Given the description of an element on the screen output the (x, y) to click on. 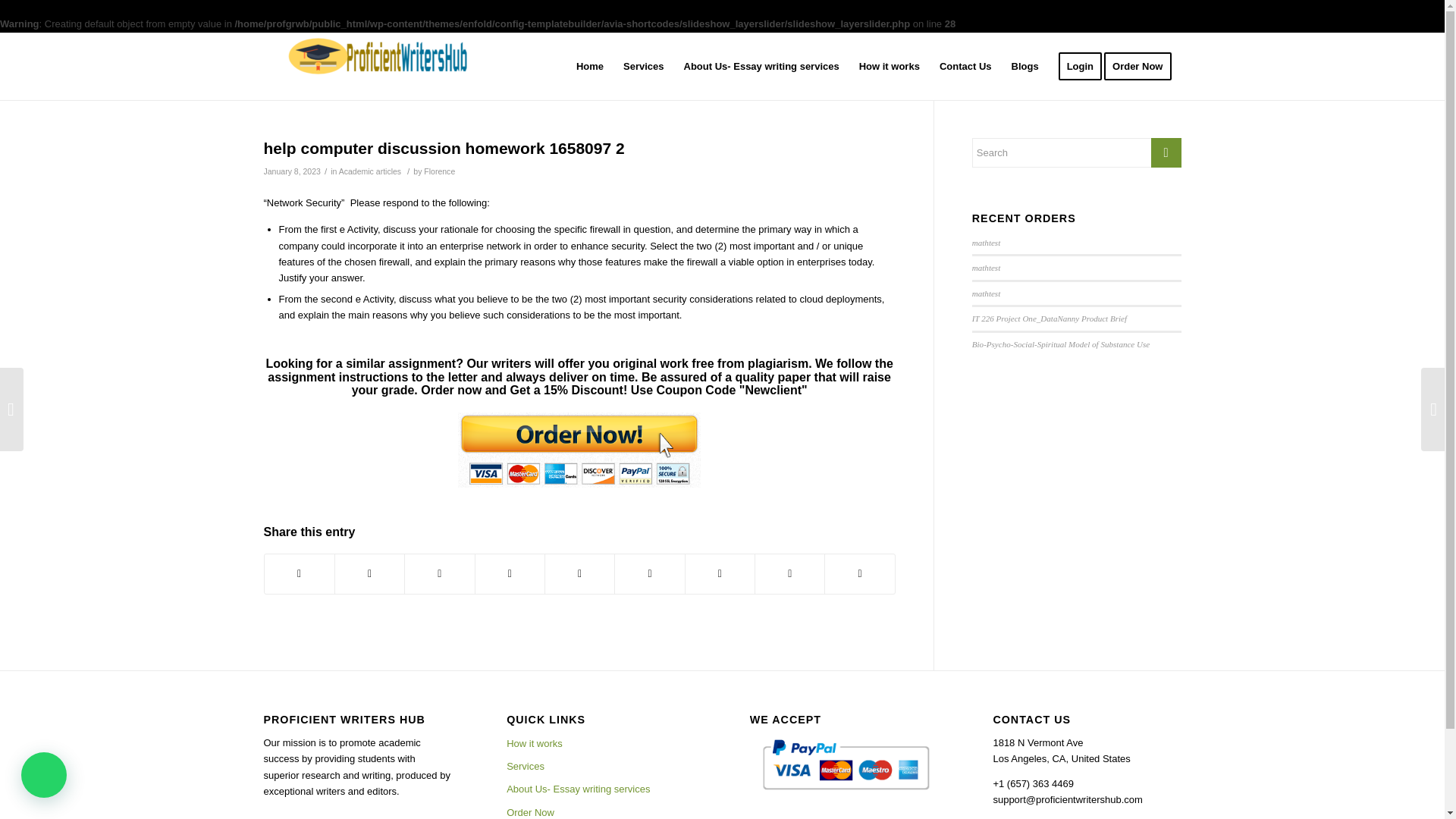
help computer discussion homework 1658097 2 (443, 148)
How it works (889, 66)
Services (643, 66)
mathtest (986, 242)
Permanent Link: help computer discussion homework 1658097 2 (443, 148)
Florence (438, 171)
Order Now (600, 810)
Contact Us (965, 66)
Order Now (1141, 66)
About Us- Essay writing services (761, 66)
